Given the description of an element on the screen output the (x, y) to click on. 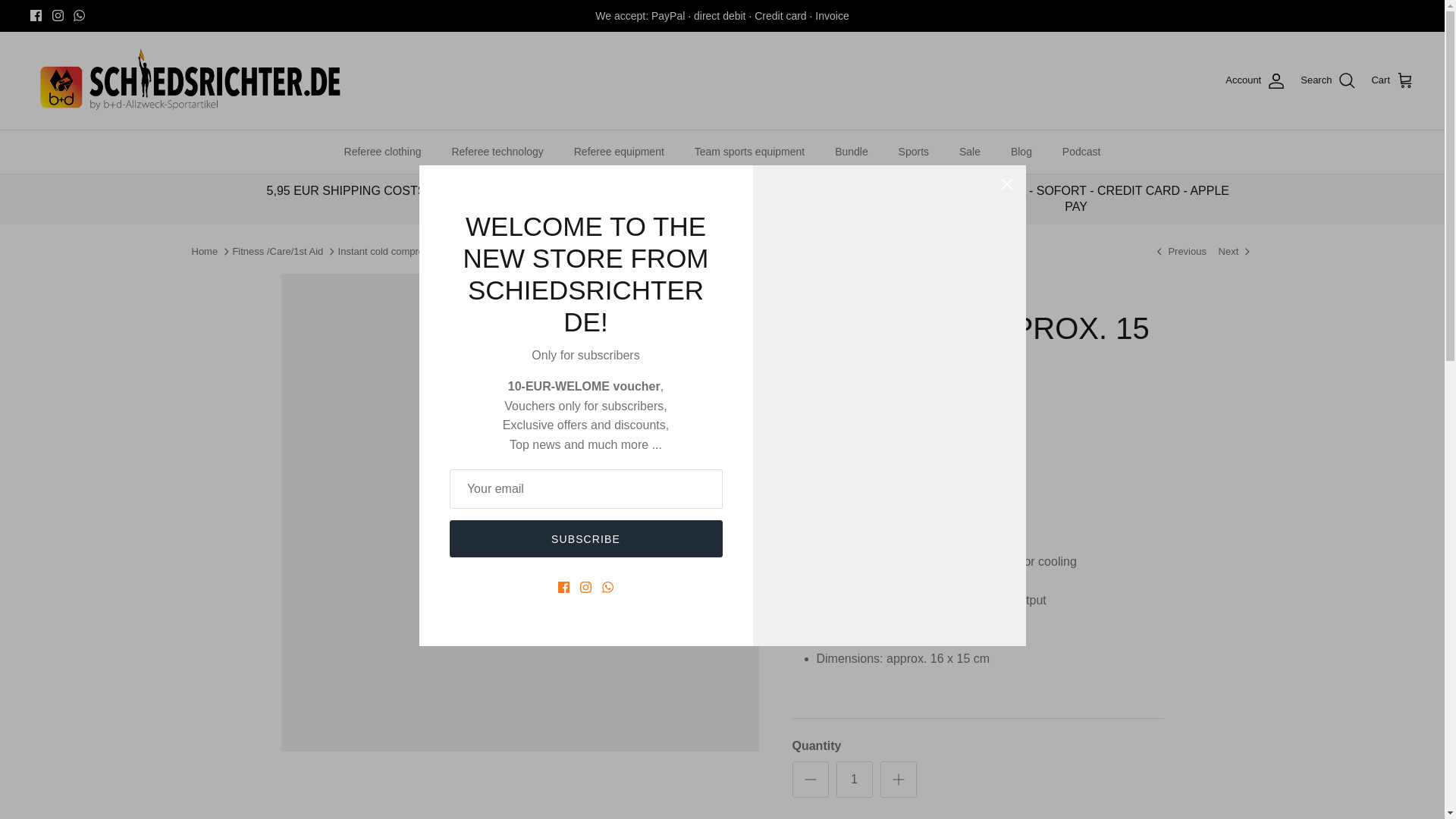
Referee equipment (619, 151)
Referee clothing (382, 151)
adhesive wound tape  (1235, 251)
Plus (897, 779)
TOP drinking bottle with screw cap - 0.75l (1180, 251)
1 (853, 779)
Referee technology (497, 151)
Schiedsrichter DE (189, 80)
Instagram (58, 15)
Account (1255, 81)
